Given the description of an element on the screen output the (x, y) to click on. 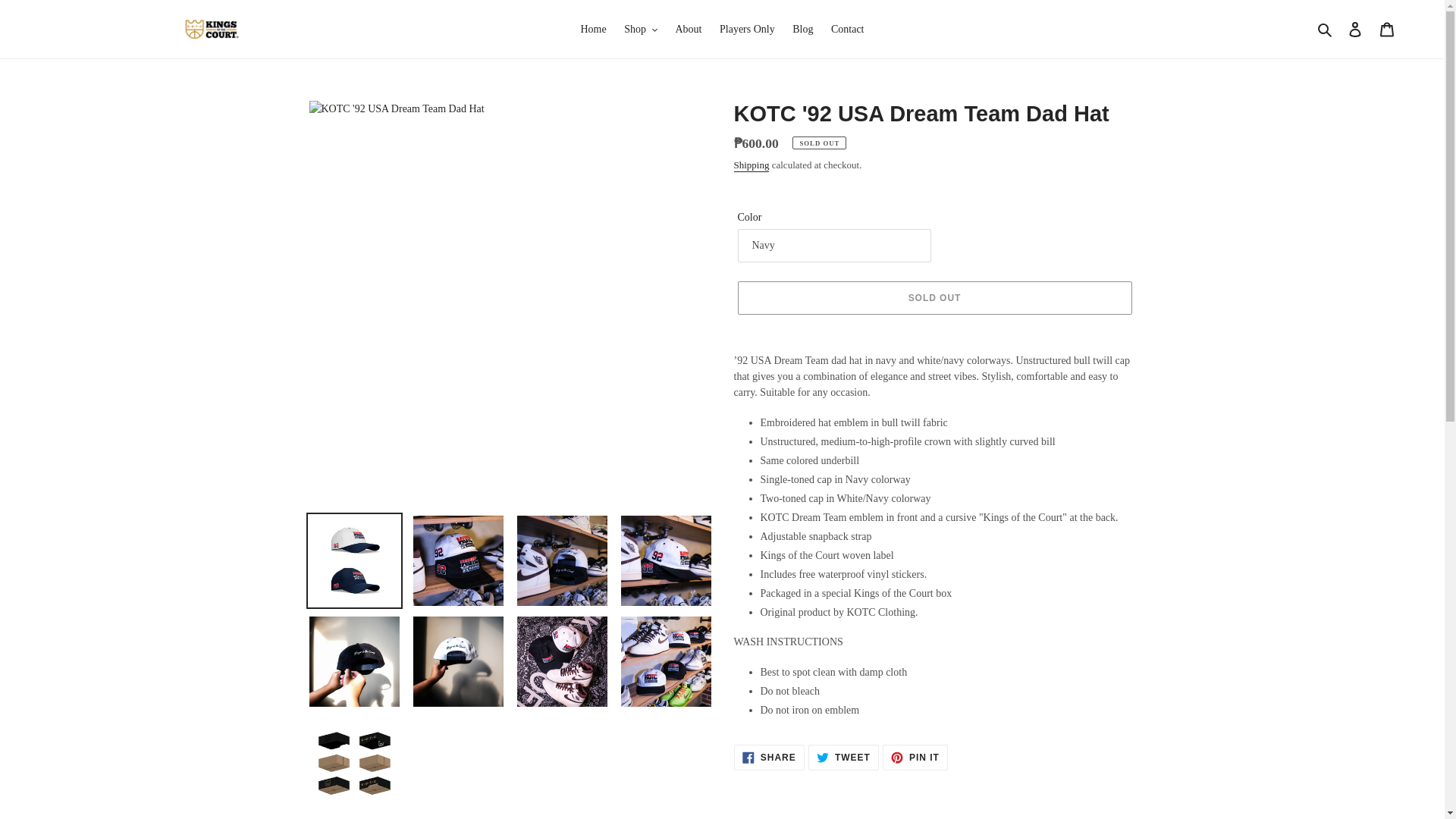
Home (592, 28)
Blog (802, 28)
Cart (1387, 29)
About (687, 28)
Log in (1355, 29)
Shop (640, 28)
Players Only (747, 28)
Contact (848, 28)
Search (1326, 29)
